Given the description of an element on the screen output the (x, y) to click on. 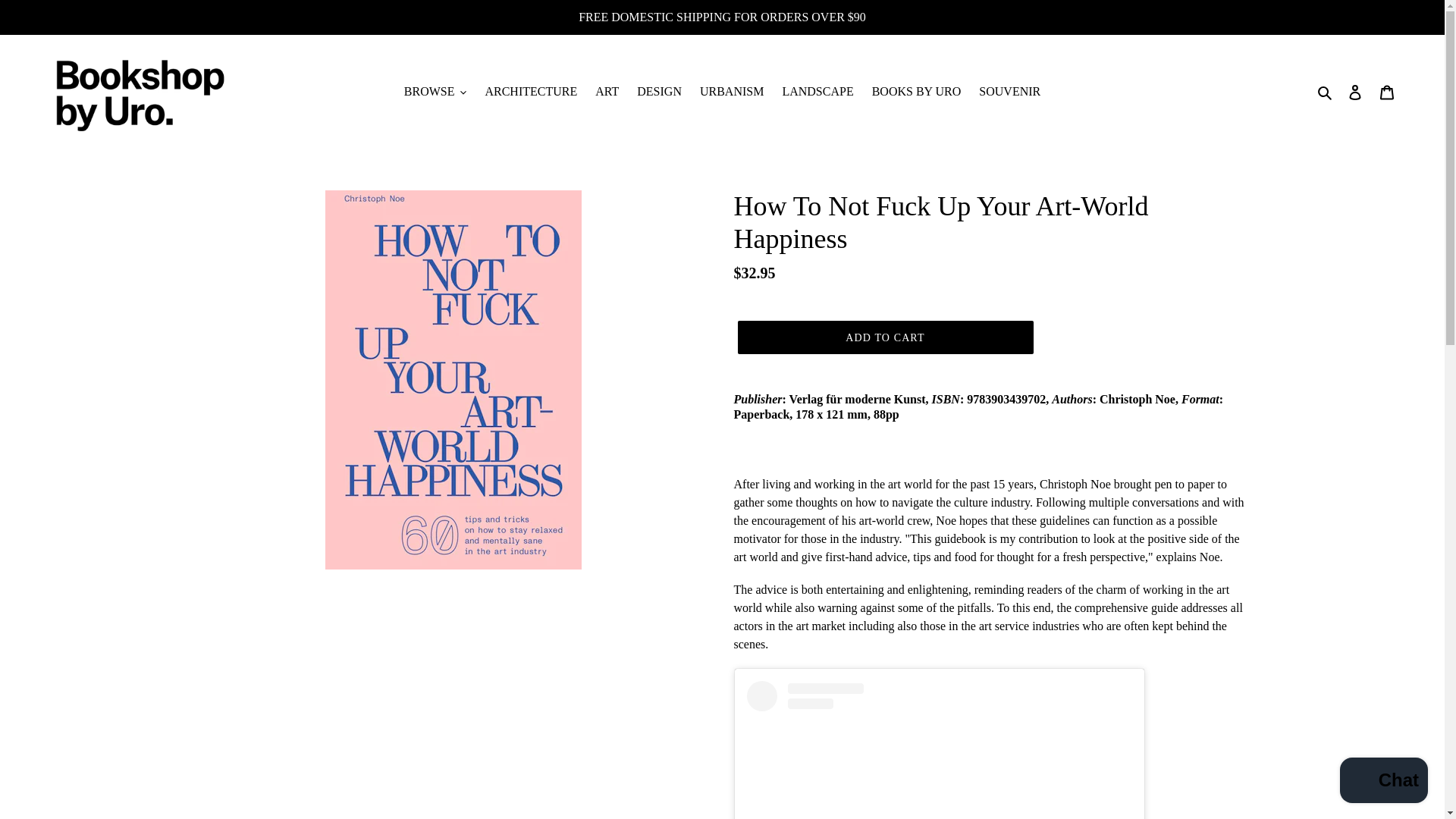
ARCHITECTURE (531, 91)
BROWSE (435, 91)
DESIGN (658, 91)
Search (1326, 91)
BOOKS BY URO (916, 91)
SOUVENIR (1009, 91)
LANDSCAPE (817, 91)
URBANISM (732, 91)
Cart (1387, 90)
Log in (1355, 90)
